Given the description of an element on the screen output the (x, y) to click on. 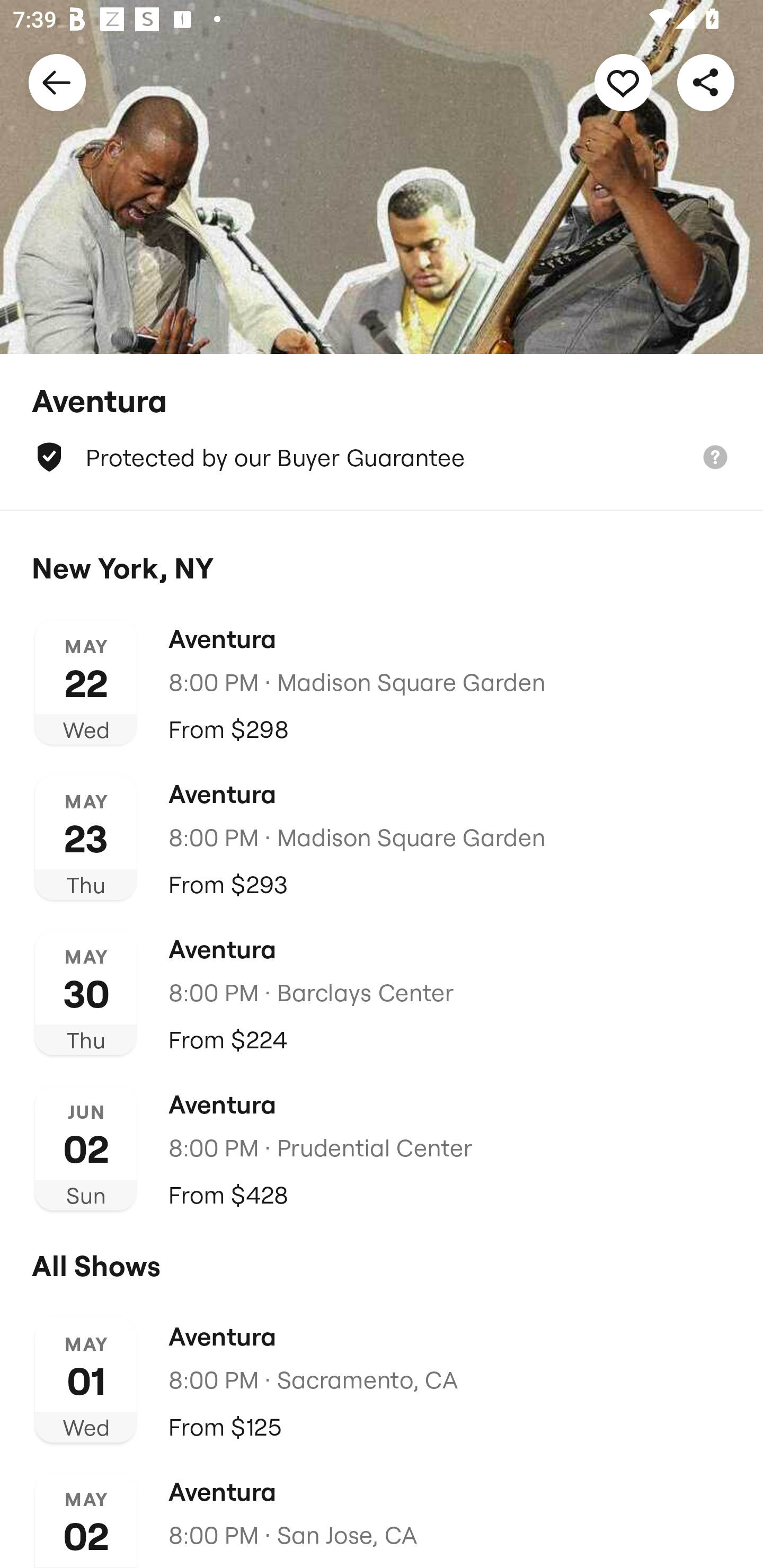
Back (57, 81)
Track this performer (623, 81)
Share this performer (705, 81)
Protected by our Buyer Guarantee Learn more (381, 456)
